Given the description of an element on the screen output the (x, y) to click on. 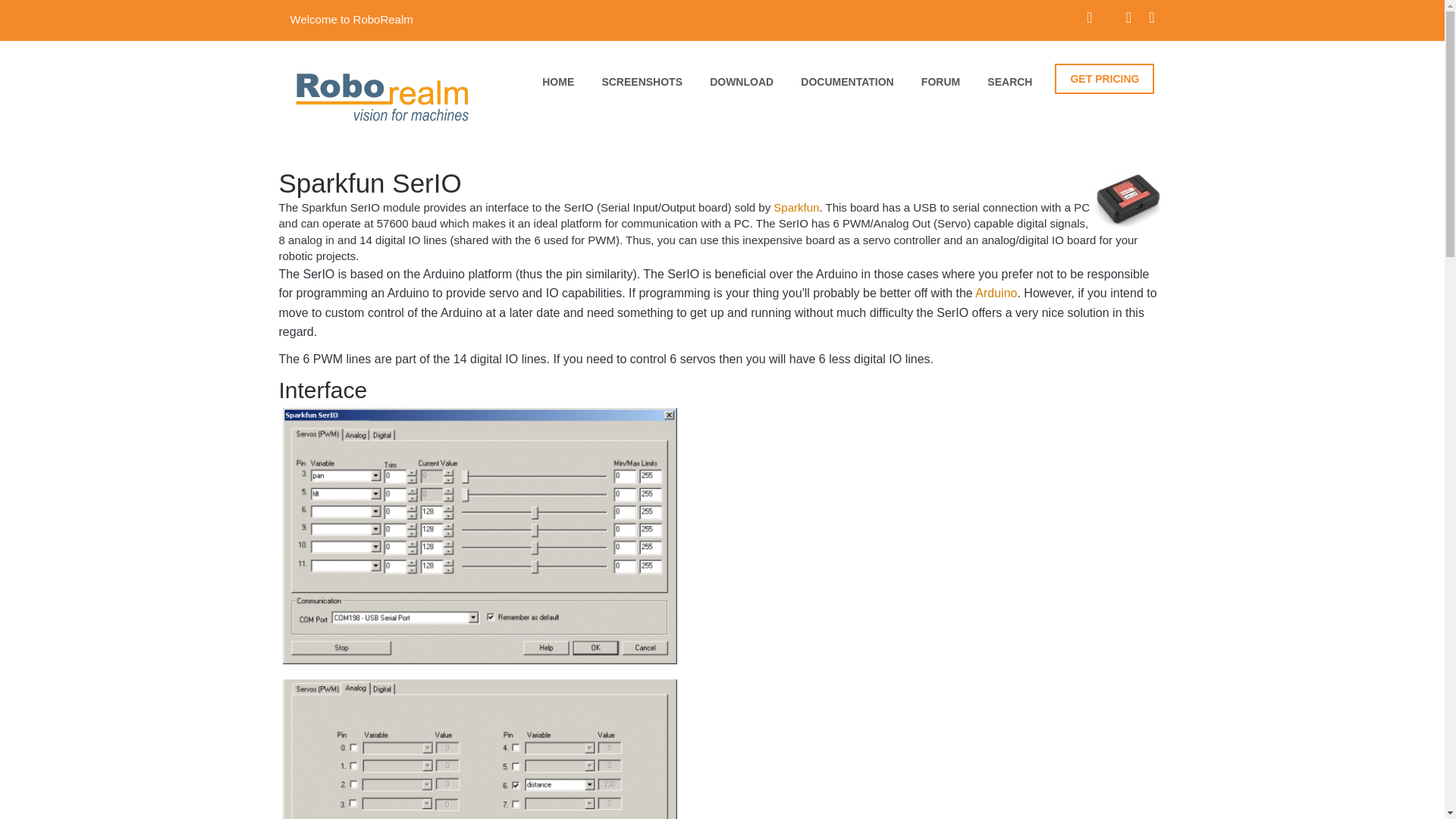
DOCUMENTATION (846, 86)
Sparkfun (795, 206)
DOWNLOAD (741, 86)
Arduino (995, 292)
HOME (557, 86)
SEARCH (1009, 86)
FORUM (940, 86)
GET PRICING (1104, 78)
SCREENSHOTS (641, 86)
